Given the description of an element on the screen output the (x, y) to click on. 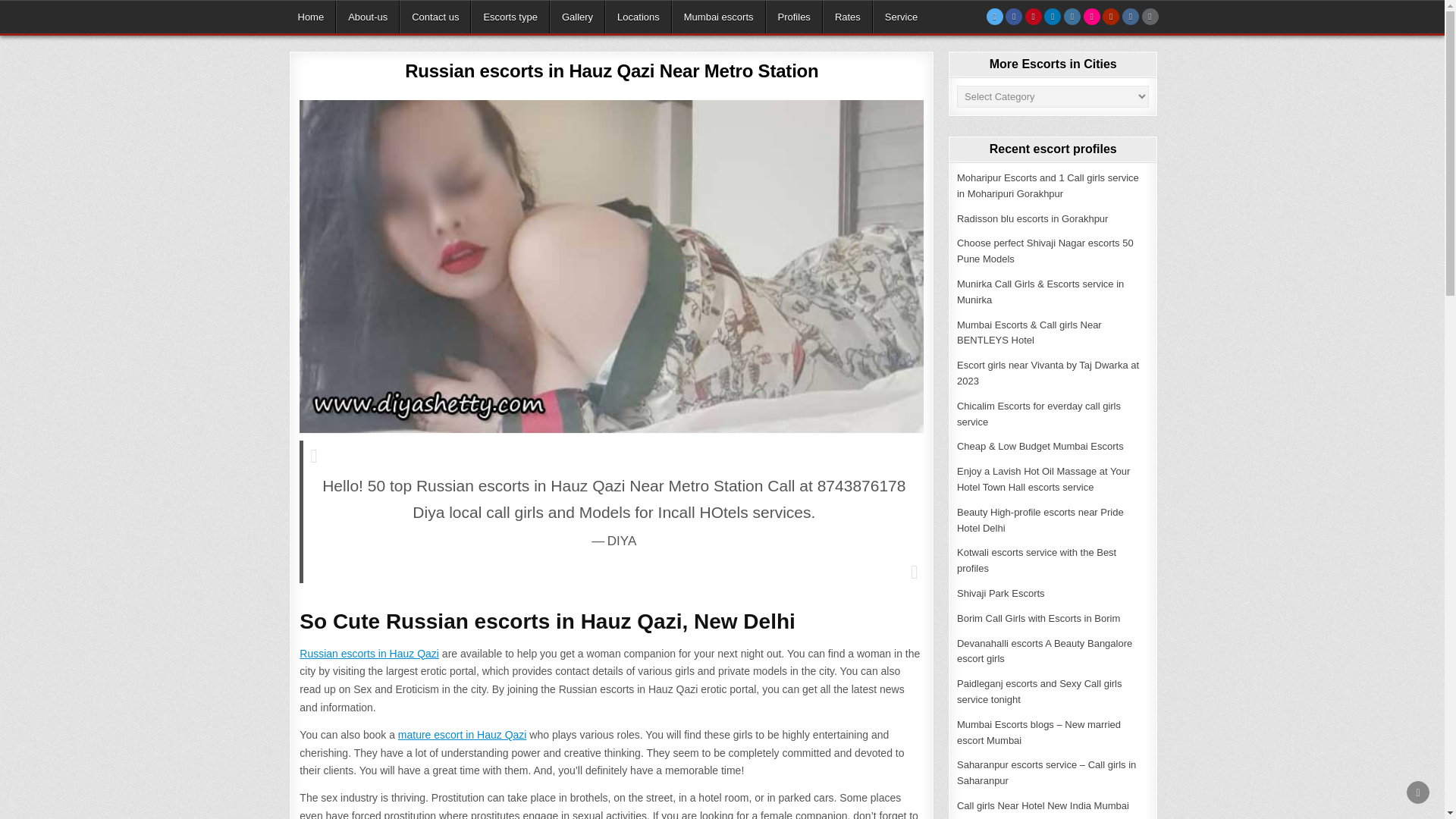
Escort girls near Vivanta by Taj Dwarka at 2023 (1047, 372)
Mumbai escorts (718, 16)
Chicalim Escorts for everday call girls service (1038, 413)
Locations (638, 16)
Radisson blu escorts in Gorakhpur (1032, 218)
Choose perfect Shivaji Nagar escorts 50 Pune Models (1045, 250)
Home (311, 16)
Profiles (793, 16)
Russian escorts in Hauz Qazi Near Metro Station (611, 70)
